Given the description of an element on the screen output the (x, y) to click on. 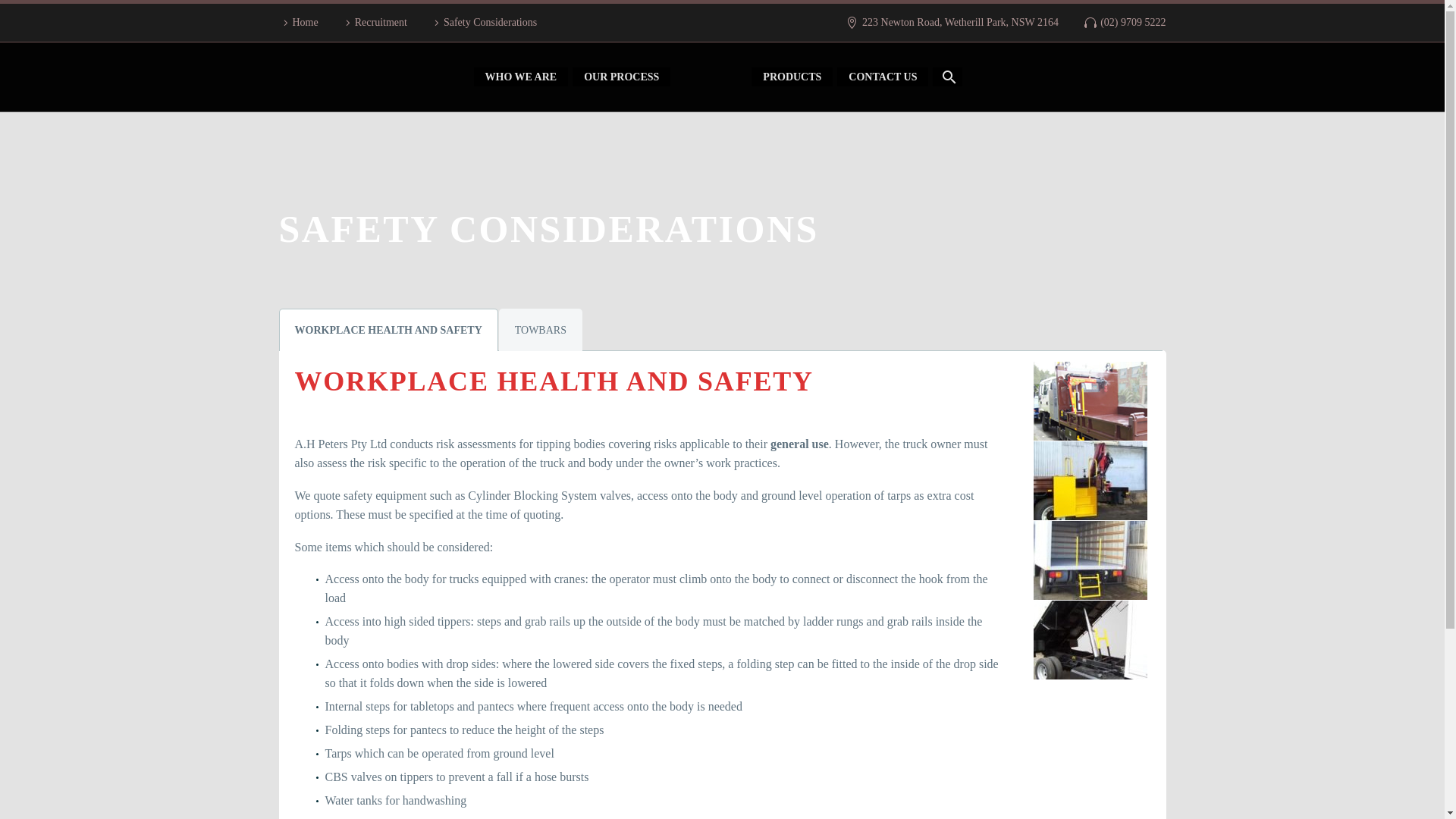
TOWBARS (540, 329)
Home (298, 22)
OUR PROCESS (620, 76)
PRODUCTS (791, 76)
WORKPLACE HEALTH AND SAFETY (388, 329)
Safety Considerations (483, 22)
Recruitment (373, 22)
CONTACT US (882, 76)
WHO WE ARE (520, 76)
